Given the description of an element on the screen output the (x, y) to click on. 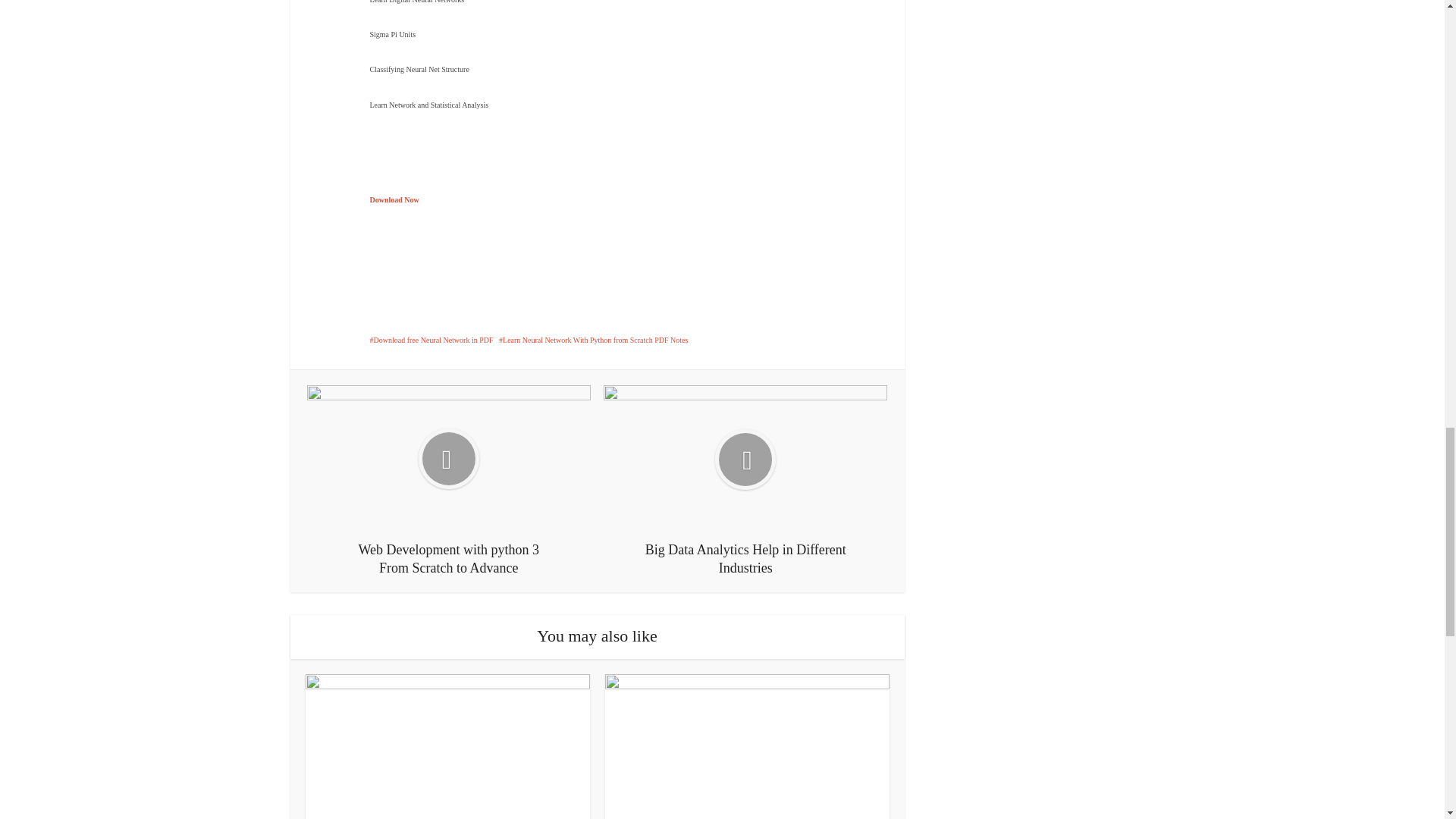
Download Now (394, 199)
Big Data Analytics Help in Different Industries (745, 480)
Web Development with python 3 From Scratch to Advance (449, 480)
Learn Neural Network With Python from Scratch PDF Notes (593, 339)
Download free Neural Network in PDF (431, 339)
